Given the description of an element on the screen output the (x, y) to click on. 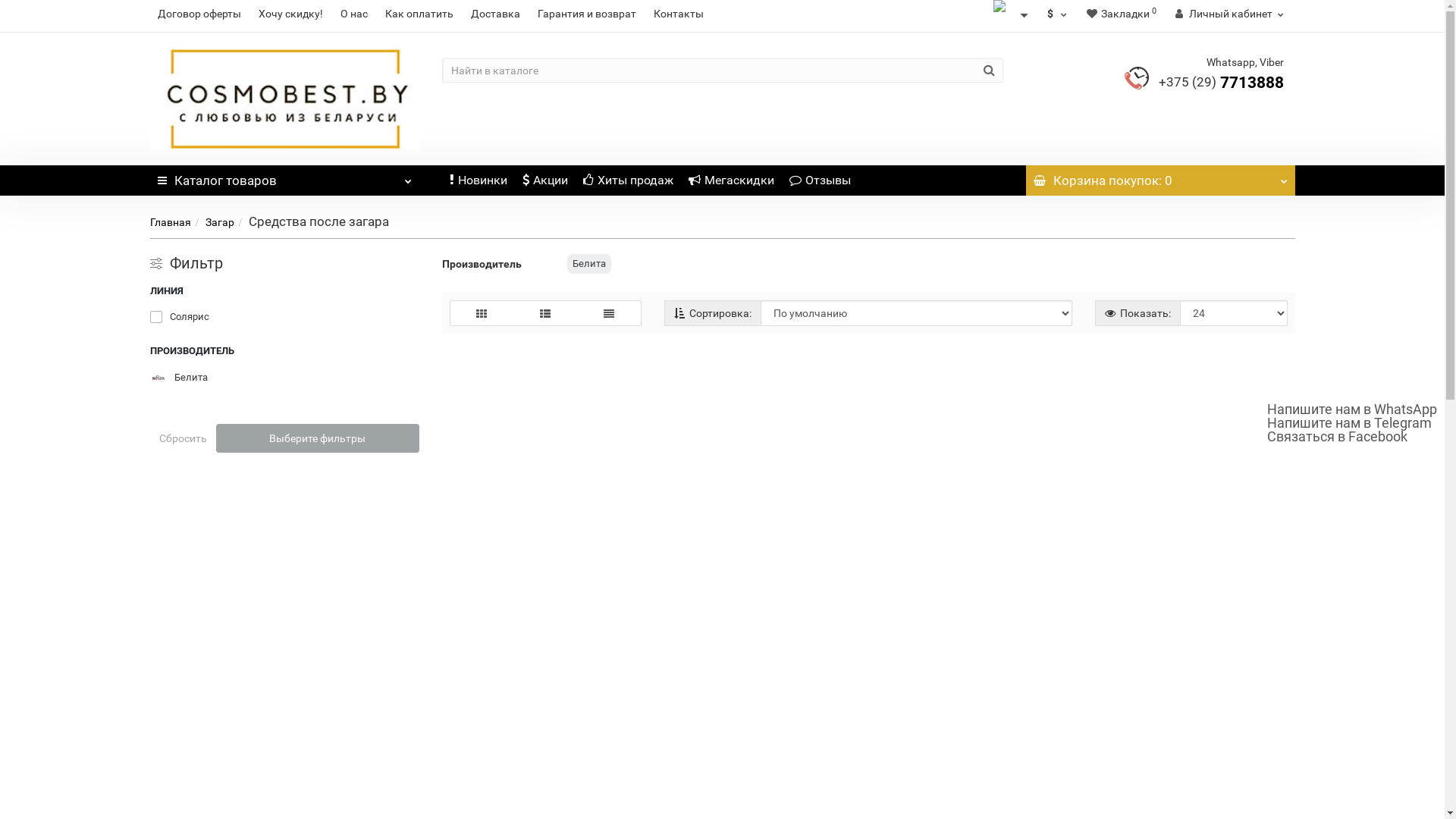
+375 (29) 7713888 Element type: text (1220, 82)
Russian Element type: hover (1001, 15)
$ Element type: text (1057, 13)
